Given the description of an element on the screen output the (x, y) to click on. 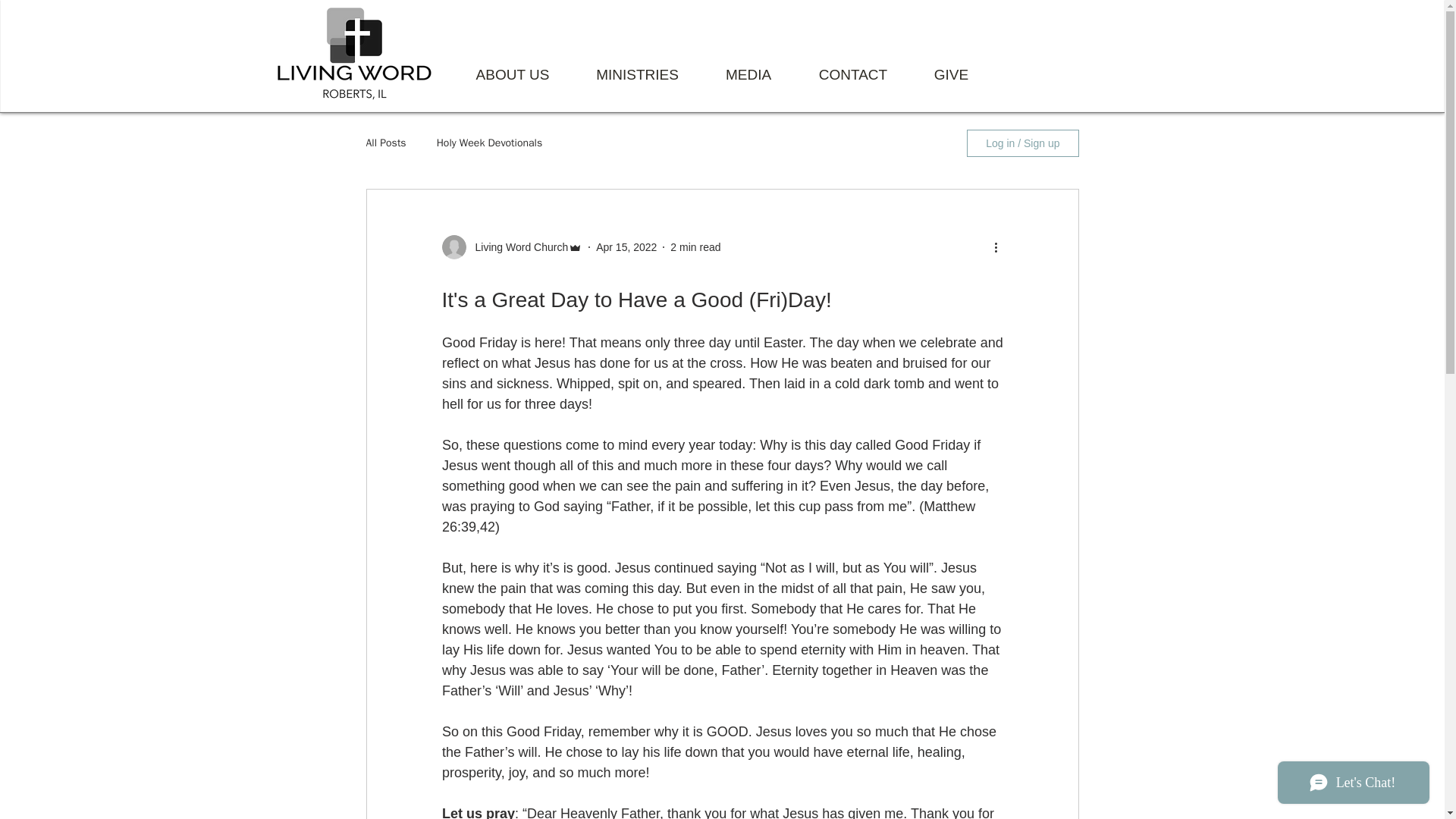
ABOUT US (511, 74)
GIVE (951, 74)
MINISTRIES (637, 74)
Apr 15, 2022 (625, 246)
Living Word Church (516, 247)
All Posts (385, 142)
CONTACT (852, 74)
MEDIA (747, 74)
2 min read (694, 246)
Holy Week Devotionals (489, 142)
